Given the description of an element on the screen output the (x, y) to click on. 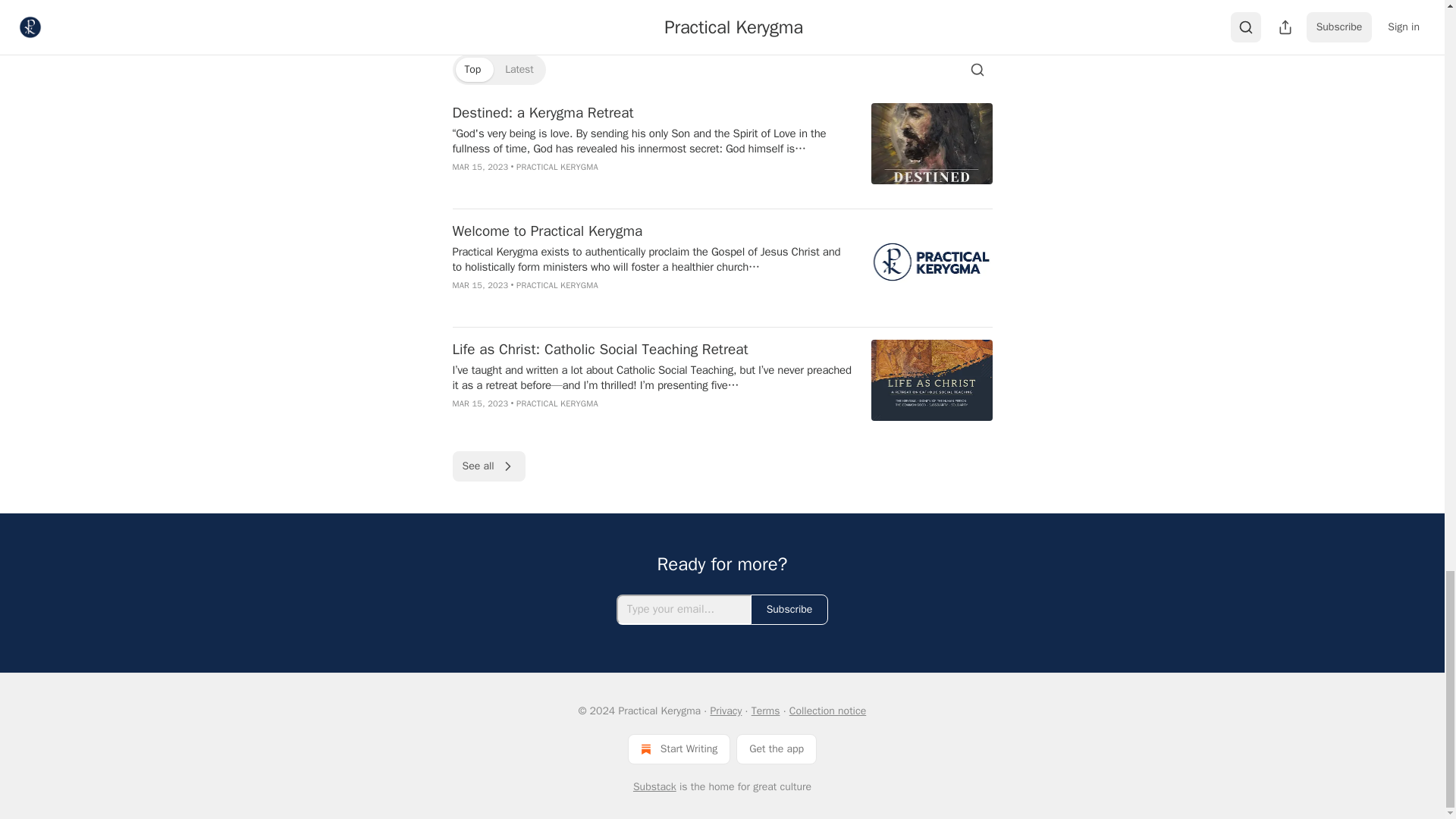
Top (471, 69)
Latest (518, 69)
Destined: a Kerygma Retreat (651, 112)
Share (970, 11)
